Given the description of an element on the screen output the (x, y) to click on. 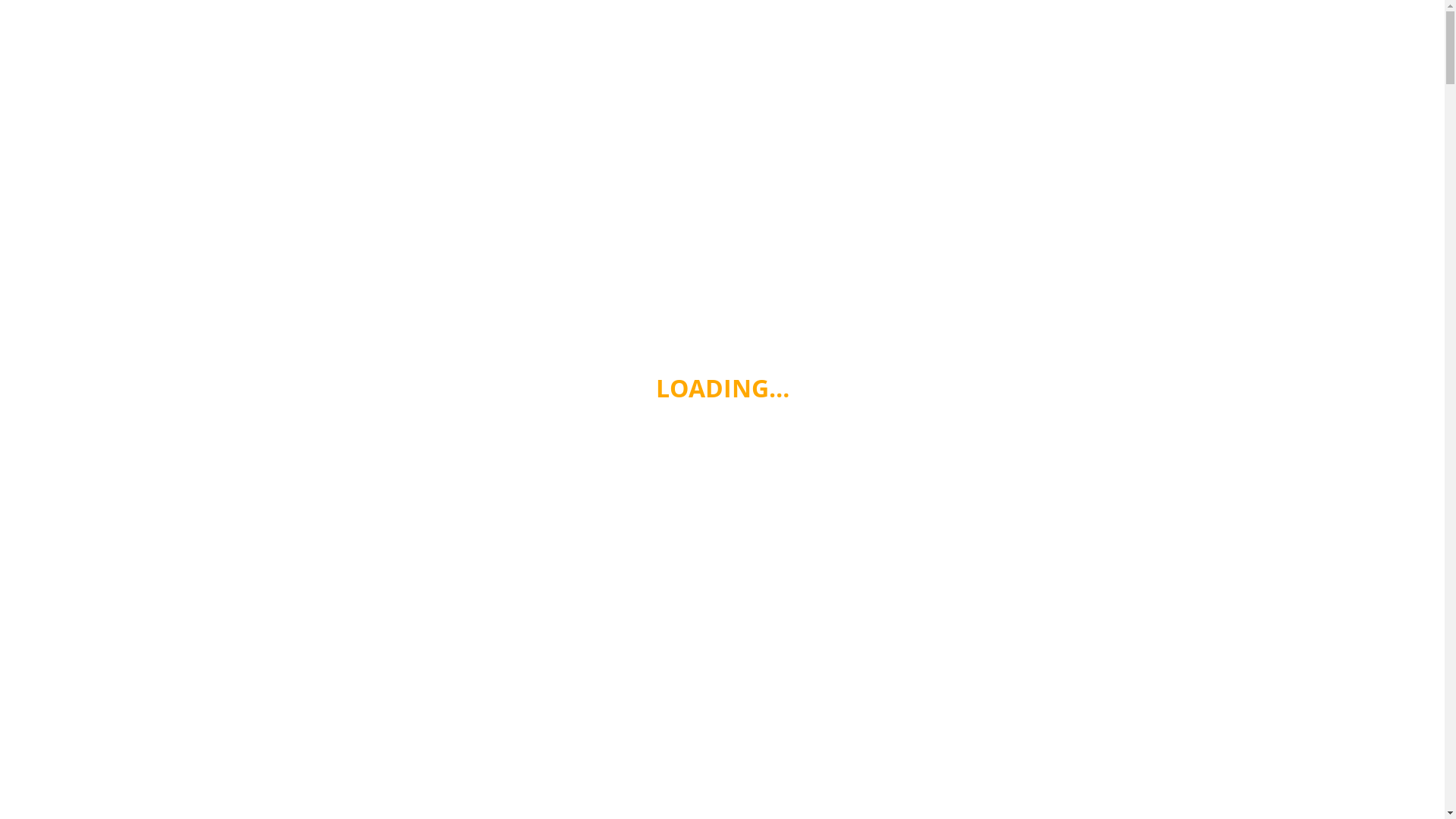
6 Ways to Use Kelp Noodles Element type: hover (631, 760)
HEALTH & FITNESS Element type: text (864, 20)
CONTACT Element type: text (1116, 20)
WINE Element type: text (776, 20)
COOKING Element type: text (964, 20)
6 Ways to Use Kelp Noodles Element type: text (1079, 639)
KITCHENS Element type: text (1040, 20)
HOME Element type: text (605, 20)
HEALTHY EATING Element type: text (692, 20)
Cooking From The Heart Element type: hover (346, 19)
